Given the description of an element on the screen output the (x, y) to click on. 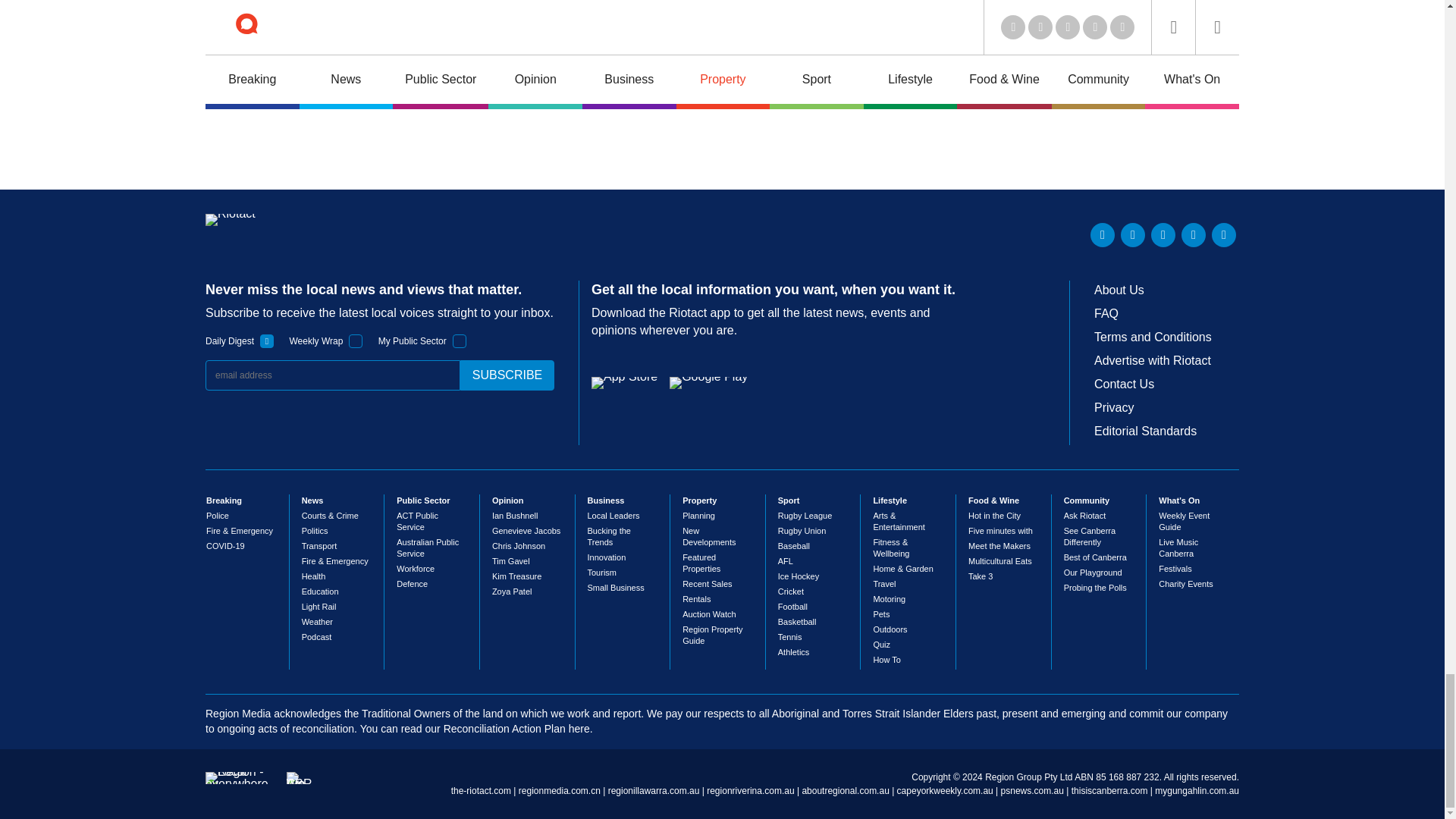
1 (355, 341)
1 (266, 341)
Youtube (1162, 234)
1 (458, 341)
subscribe (507, 375)
Twitter (1132, 234)
LinkedIn (1102, 234)
Instagram (1223, 234)
Facebook (1192, 234)
App Store (624, 382)
